Given the description of an element on the screen output the (x, y) to click on. 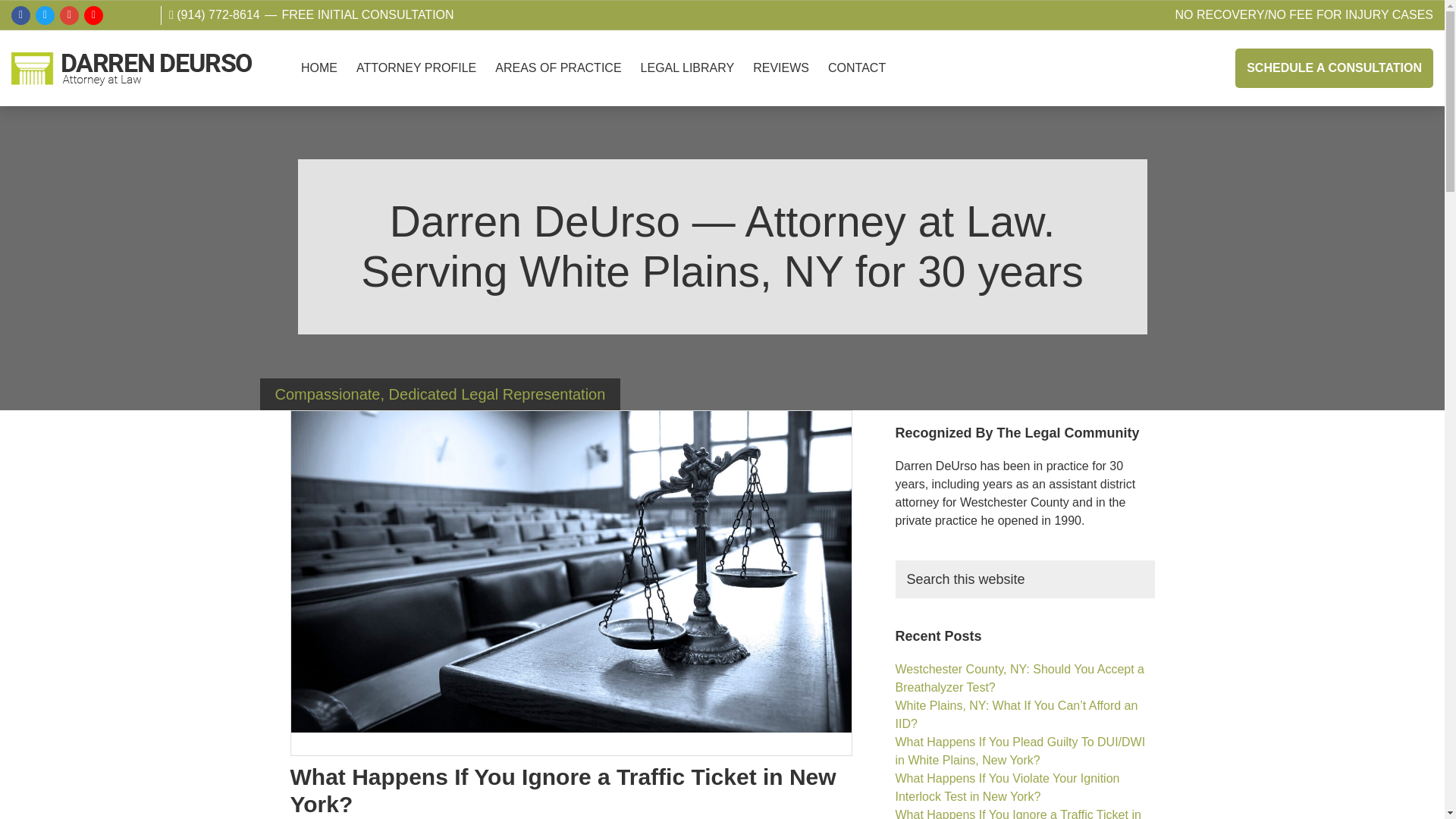
AREAS OF PRACTICE (557, 67)
HOME (319, 67)
LAWYERS.COM (141, 14)
MARTINDALE (116, 14)
LEGAL LIBRARY (687, 67)
ATTORNEY PROFILE (416, 67)
Darren DeUrso (38, 101)
